Given the description of an element on the screen output the (x, y) to click on. 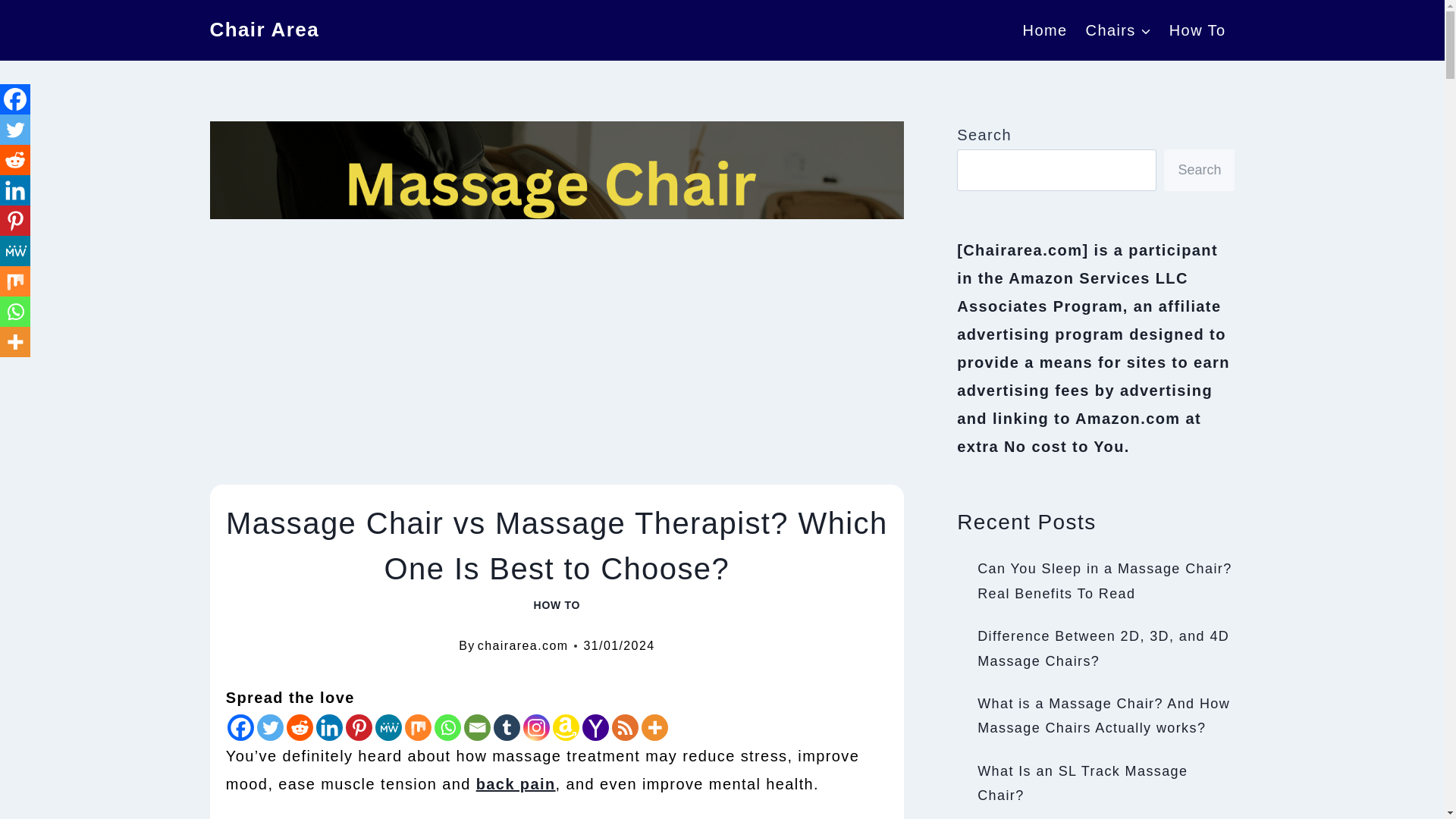
Amazon Wish List (566, 727)
Whatsapp (447, 727)
Facebook (240, 727)
Instagram (536, 727)
Chairs (1118, 30)
Email (477, 727)
Twitter (270, 727)
Reddit (299, 727)
Linkedin (328, 727)
HOW TO (557, 604)
